Given the description of an element on the screen output the (x, y) to click on. 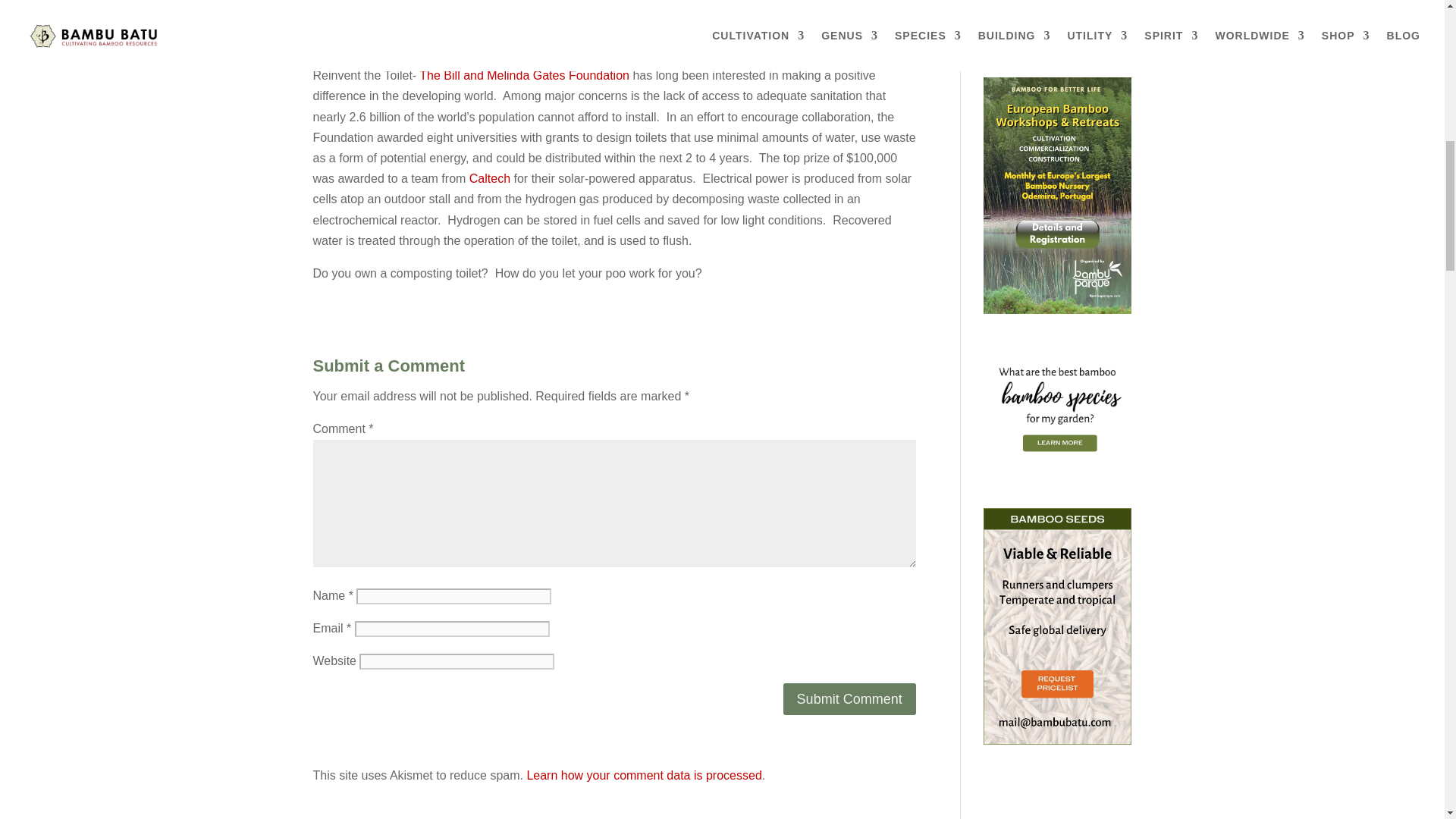
Submit Comment (849, 698)
Caltech (489, 178)
The Bill and Melinda Gates Foundation- Reinvent the Toilet (523, 74)
